Given the description of an element on the screen output the (x, y) to click on. 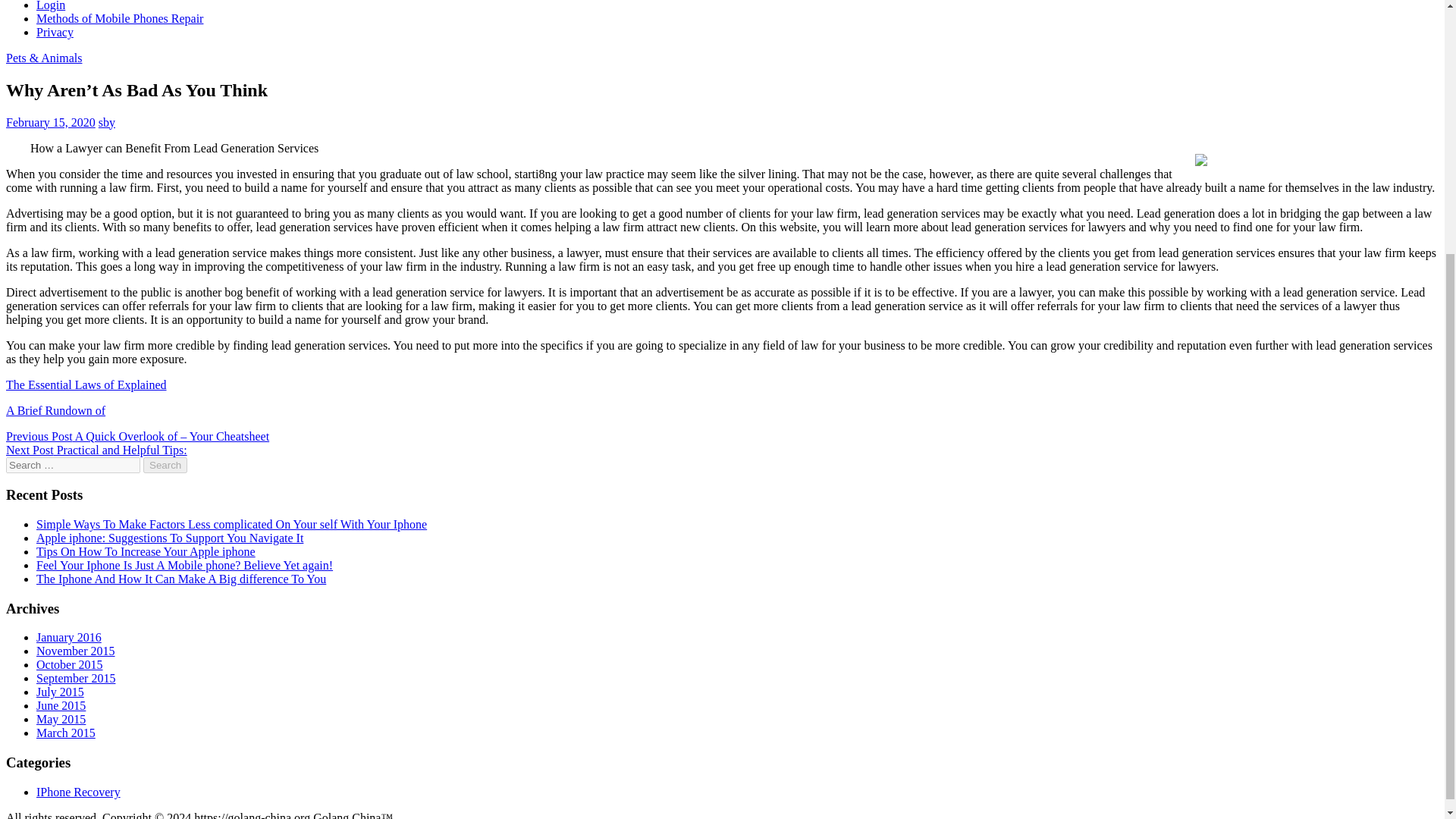
January 2016 (68, 636)
Login (50, 5)
A Brief Rundown of (54, 410)
Search (164, 465)
The Iphone And How It Can Make A Big difference To You (181, 578)
IPhone Recovery (78, 791)
Feel Your Iphone Is Just A Mobile phone? Believe Yet again! (184, 564)
Methods of Mobile Phones Repair (119, 18)
Privacy (55, 31)
Next Post Practical and Helpful Tips: (96, 449)
October 2015 (69, 664)
Search (164, 465)
The Essential Laws of Explained (86, 384)
September 2015 (75, 677)
